Given the description of an element on the screen output the (x, y) to click on. 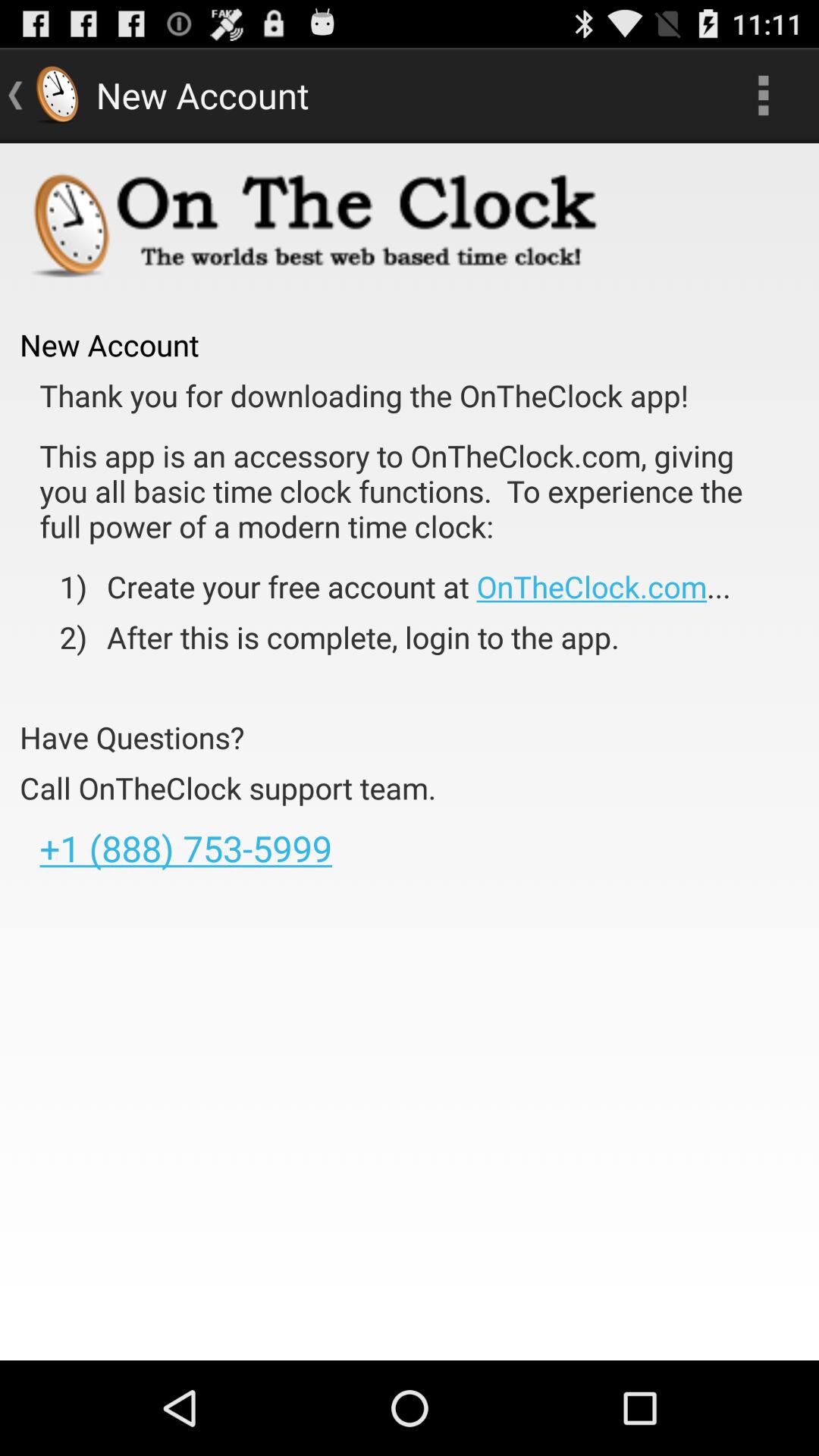
flip to the have questions? icon (131, 737)
